Given the description of an element on the screen output the (x, y) to click on. 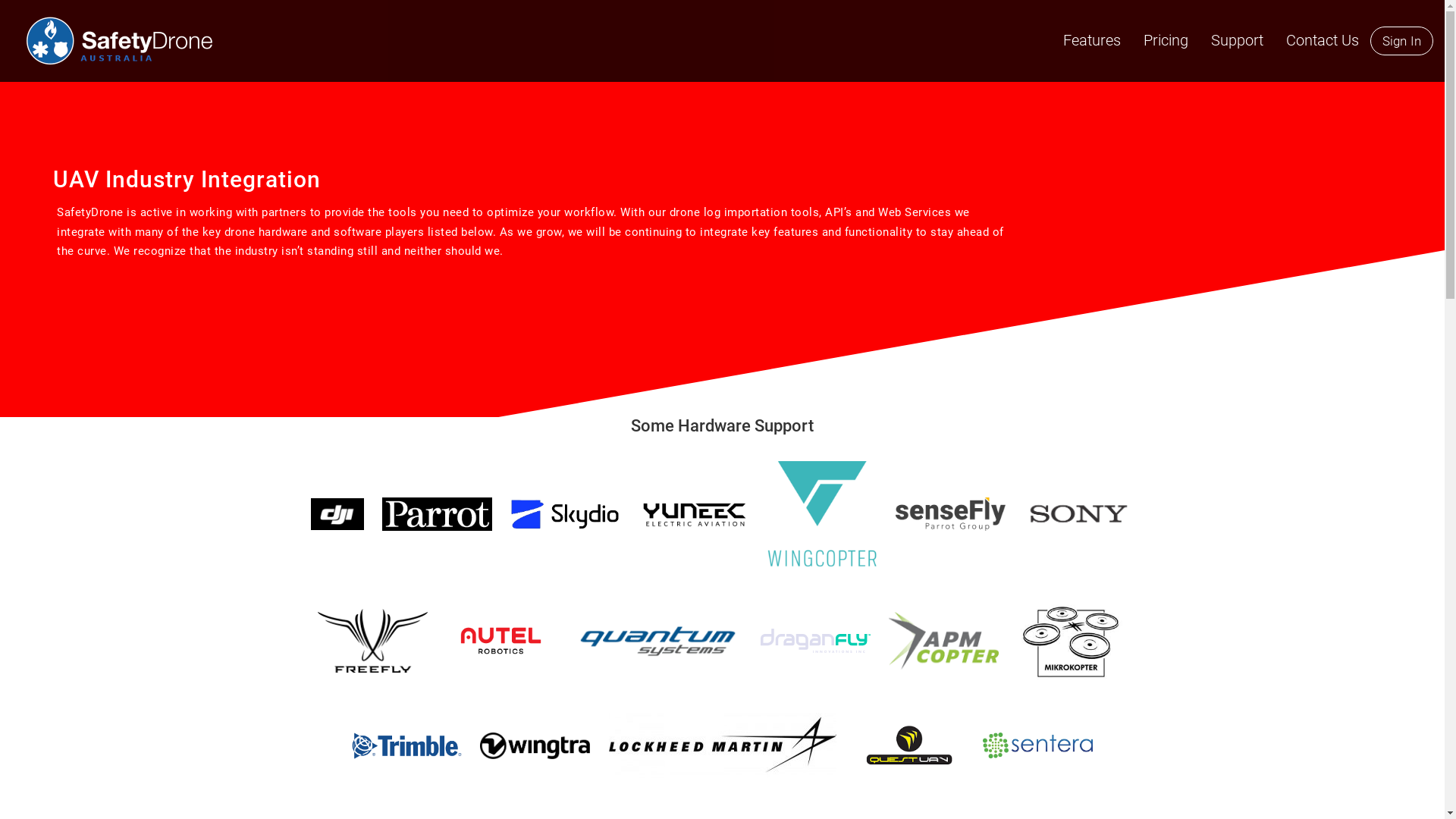
Support Element type: text (1236, 39)
Pricing Element type: text (1165, 39)
Sign In Element type: text (1401, 40)
Features Element type: text (1091, 39)
Contact Us Element type: text (1322, 39)
